Given the description of an element on the screen output the (x, y) to click on. 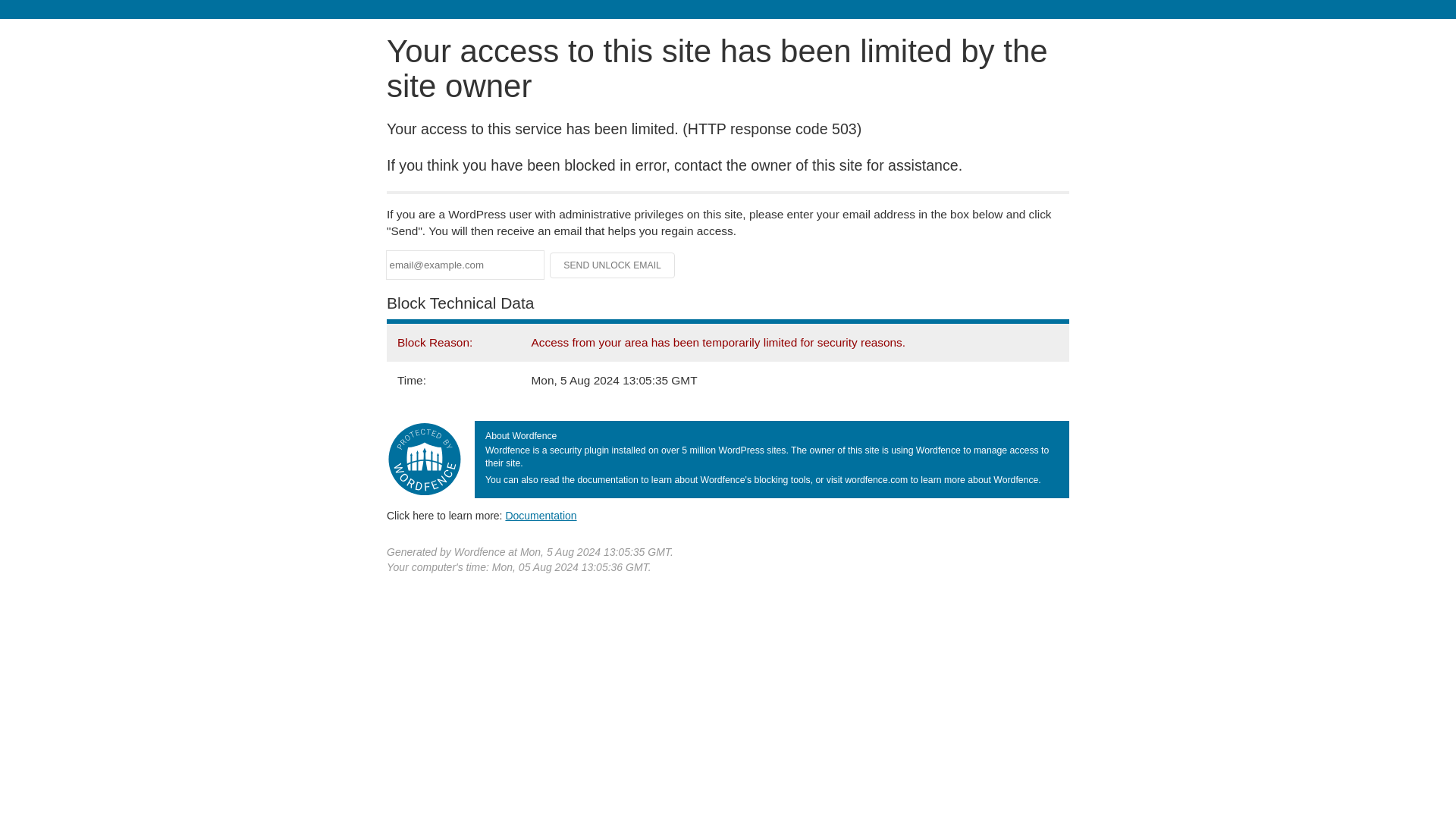
Documentation (540, 515)
Send Unlock Email (612, 265)
Send Unlock Email (612, 265)
